Given the description of an element on the screen output the (x, y) to click on. 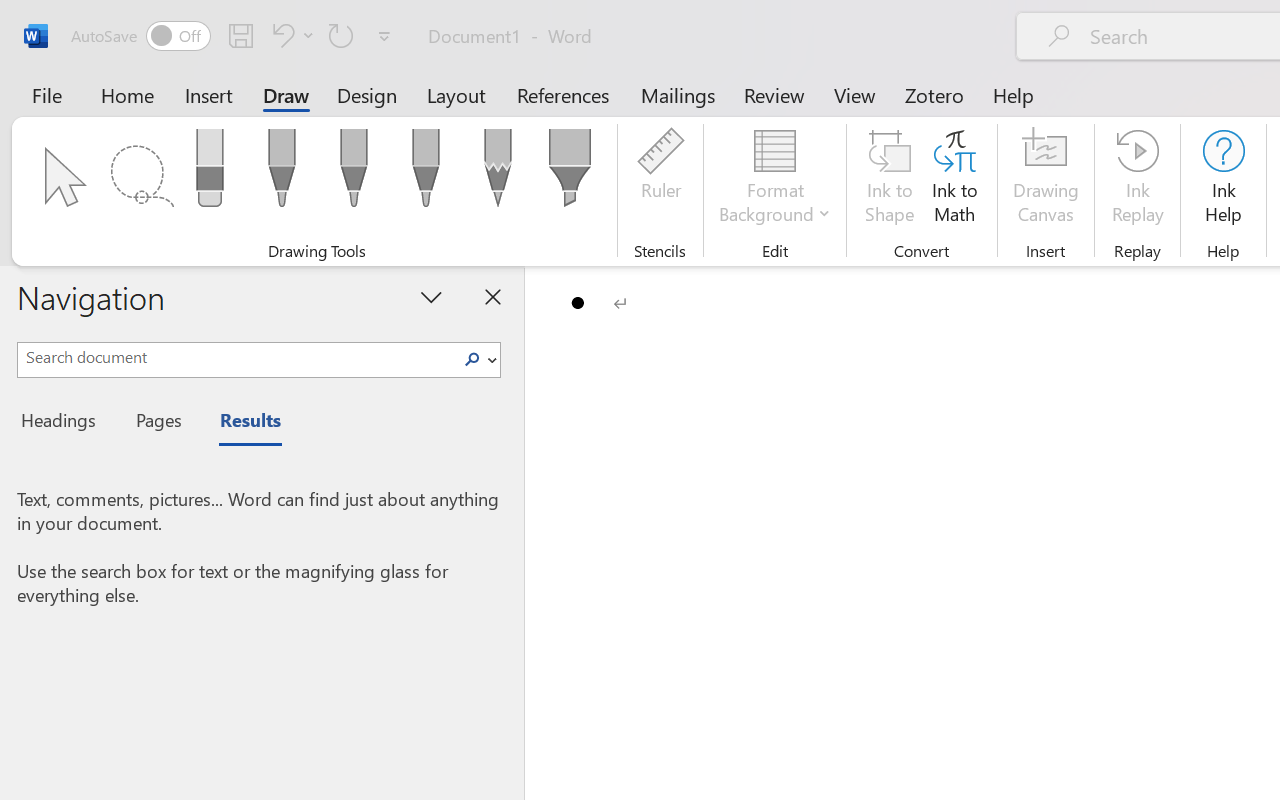
Results (240, 423)
Format Background (774, 179)
Drawing Canvas (1045, 179)
Pen: Galaxy, 1 mm (426, 173)
Undo Bullet Default (290, 35)
Ink Replay (1137, 179)
Pen: Red, 0.5 mm (353, 173)
